Given the description of an element on the screen output the (x, y) to click on. 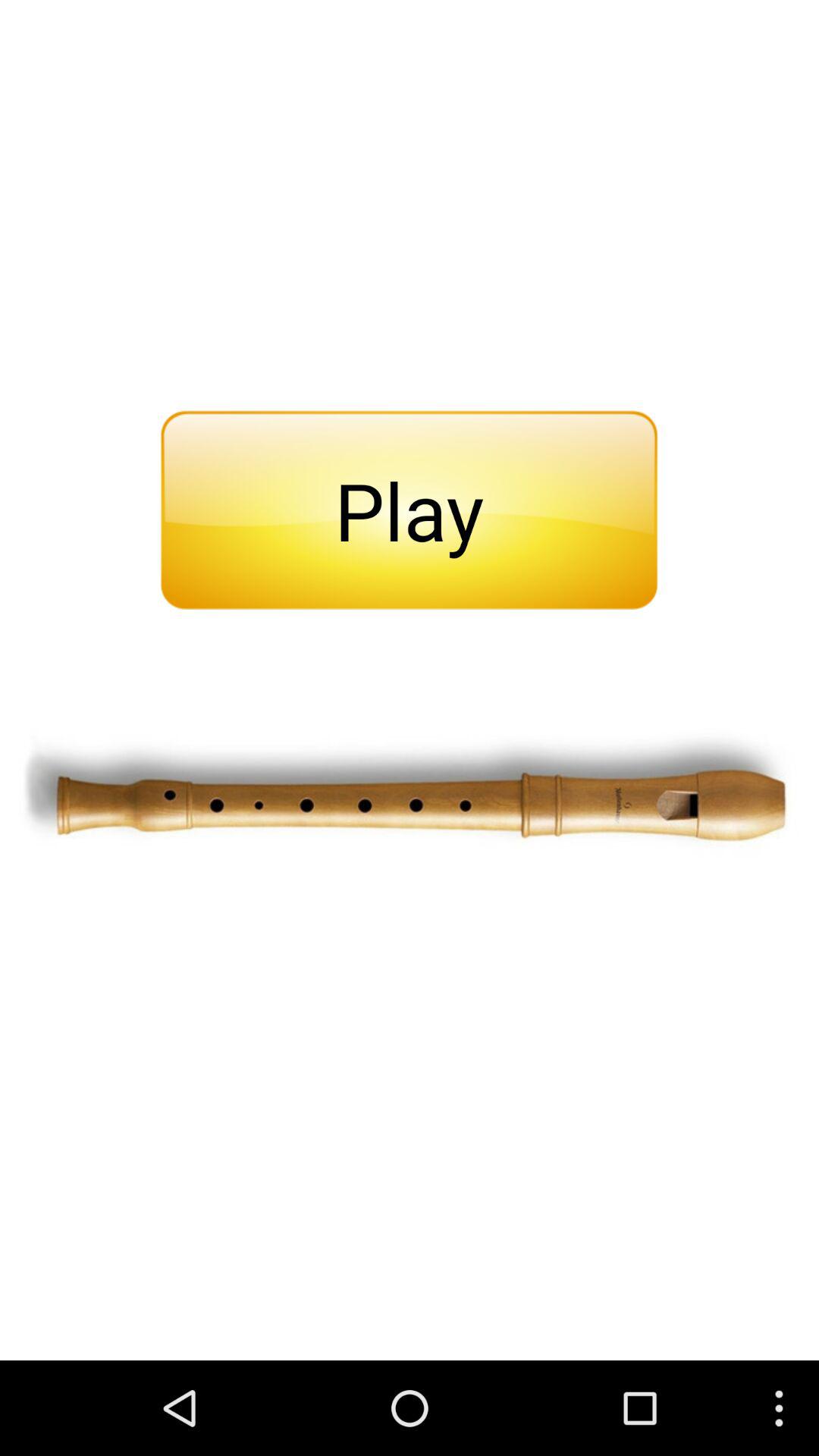
jump to the play (409, 509)
